Given the description of an element on the screen output the (x, y) to click on. 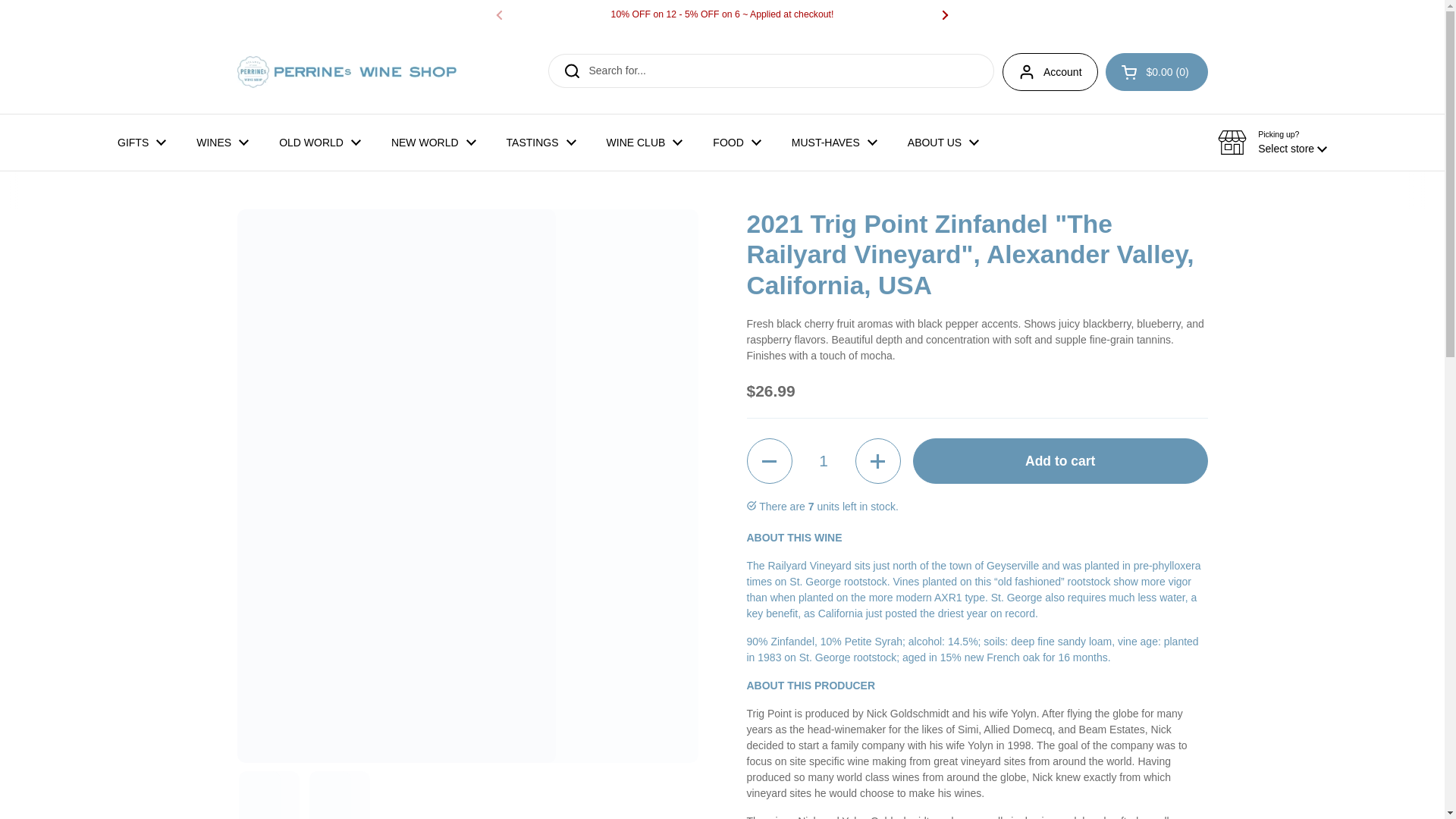
GIFTS (140, 142)
Open cart (1156, 71)
Account (1050, 71)
GIFTS (140, 142)
WINES (221, 142)
1 (822, 461)
OLD WORLD (319, 142)
WINES (221, 142)
PERRINE's WINE SHOP (345, 71)
